Given the description of an element on the screen output the (x, y) to click on. 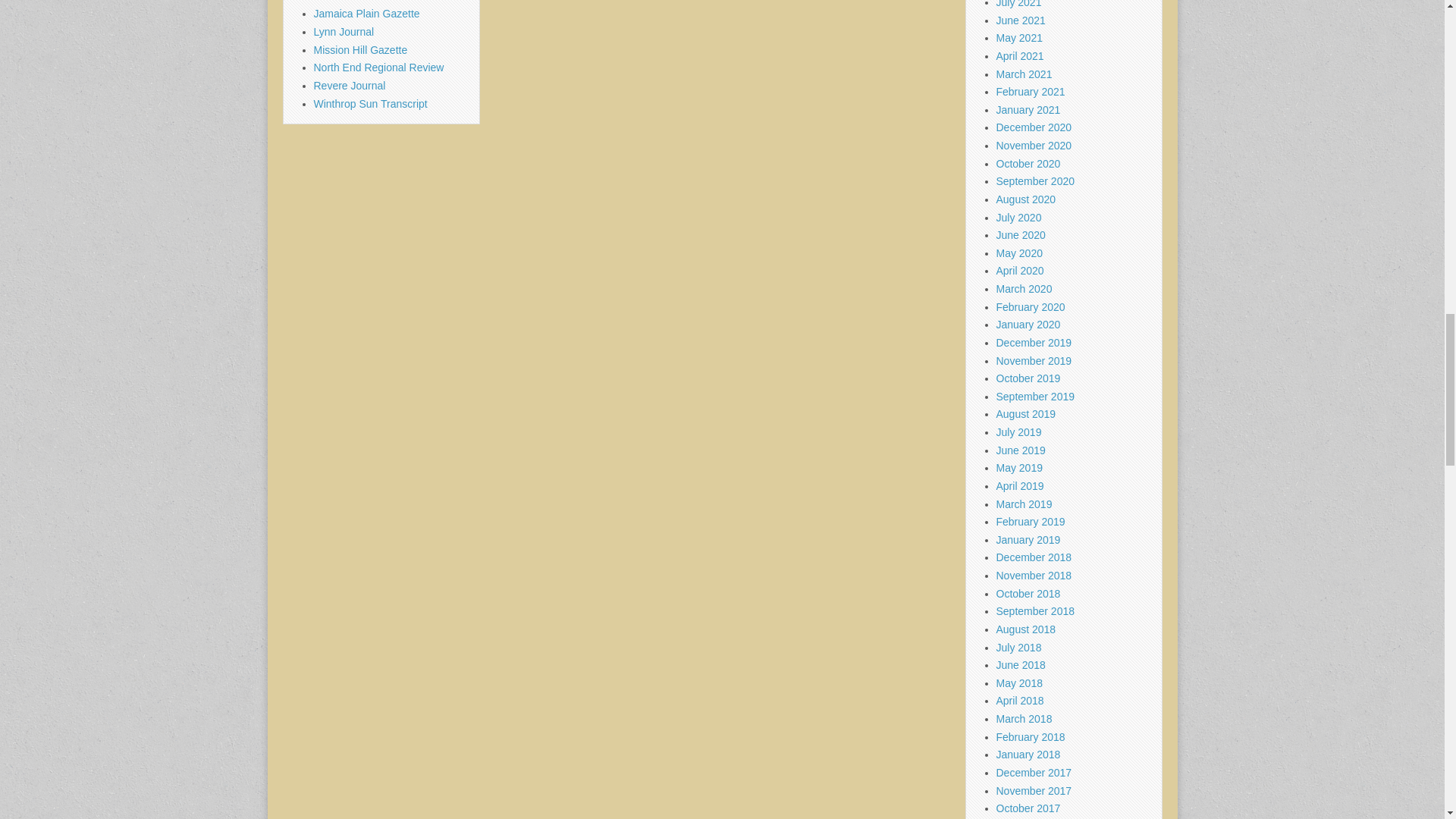
Jamaica Plain Gazette (367, 13)
East Boston Times Free Press (385, 1)
Lynn Journal (344, 31)
